Given the description of an element on the screen output the (x, y) to click on. 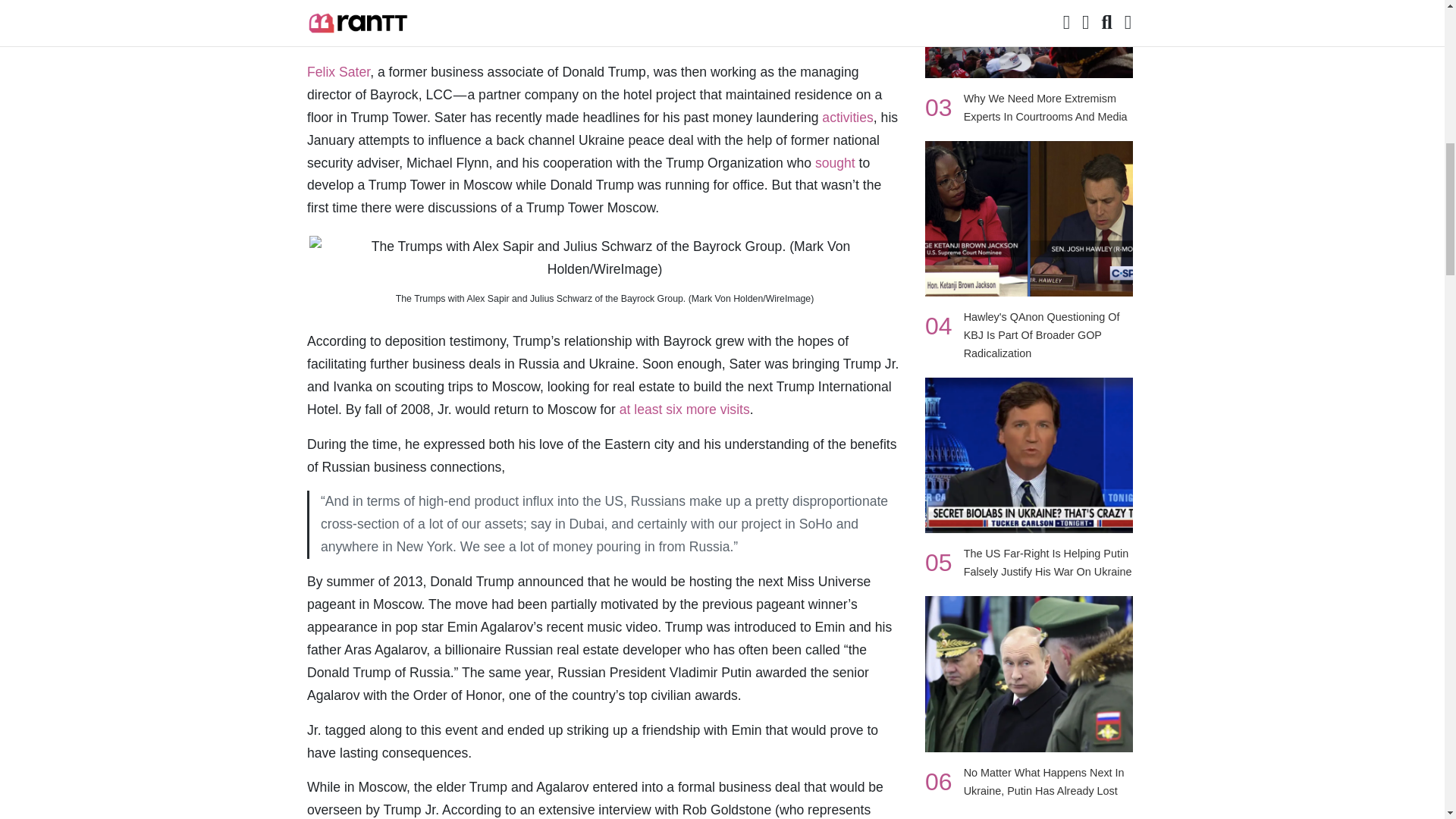
activities (847, 117)
Felix Sater (338, 71)
sought (835, 162)
at least six more visits (684, 409)
